Given the description of an element on the screen output the (x, y) to click on. 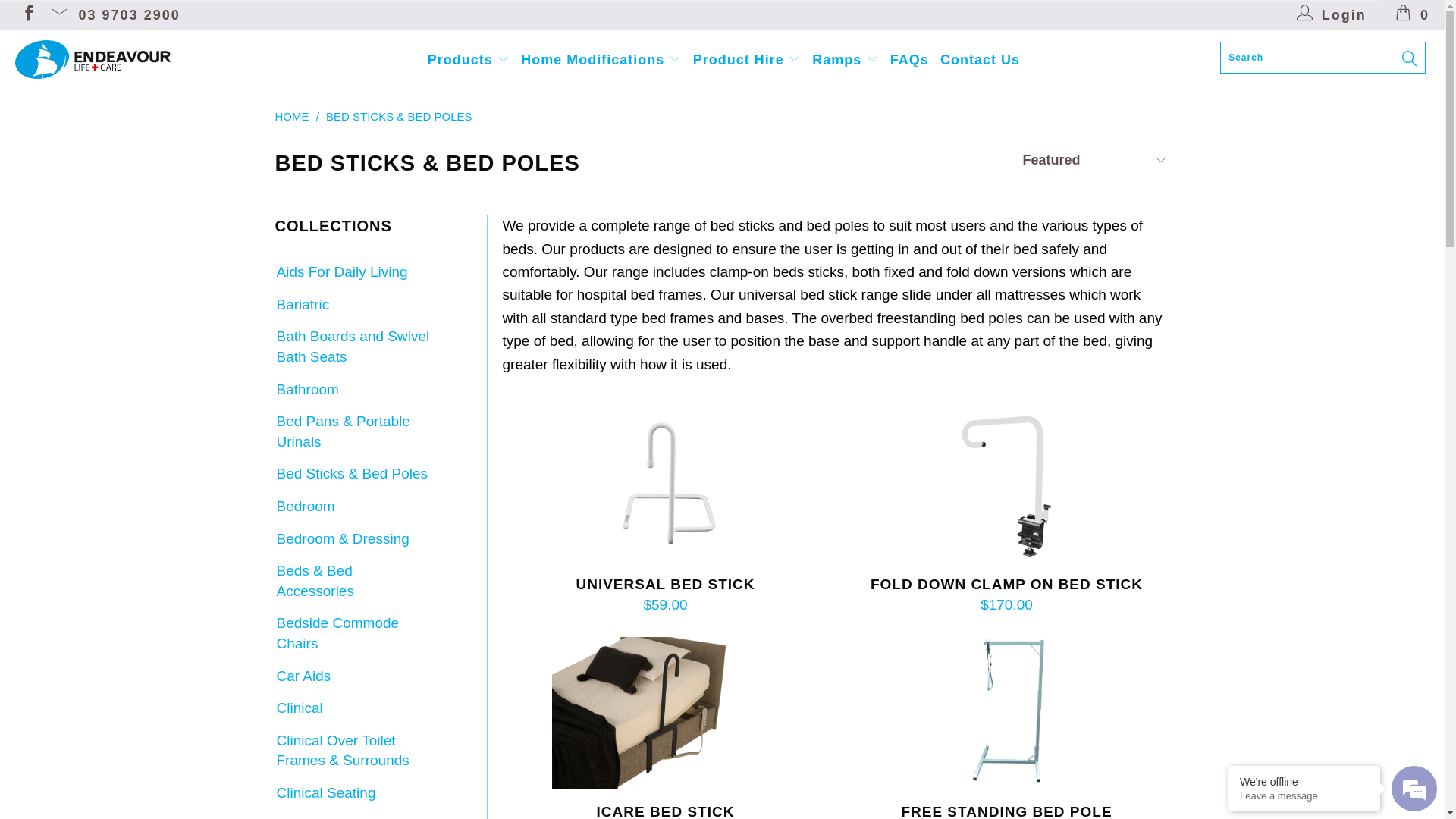
HOME Element type: text (291, 115)
03 9703 2900 Element type: text (129, 15)
Products Element type: text (468, 59)
Endeavour Life Care Element type: hover (123, 59)
Bed Pans & Portable Urinals Element type: text (352, 431)
Aids For Daily Living Element type: text (340, 272)
Contact Us Element type: text (979, 60)
0 Element type: text (1412, 15)
FAQs Element type: text (909, 60)
Bedroom & Dressing Element type: text (341, 539)
Bathroom Element type: text (306, 389)
Email Endeavour Life Care Element type: hover (57, 14)
Bedside Commode Chairs Element type: text (352, 633)
Login Element type: text (1332, 15)
Beds & Bed Accessories Element type: text (352, 581)
Clinical Over Toilet Frames & Surrounds Element type: text (352, 751)
Bed Sticks & Bed Poles Element type: text (350, 474)
BED STICKS & BED POLES Element type: text (399, 115)
FOLD DOWN CLAMP ON BED STICK
$170.00 Element type: text (1006, 595)
Clinical Seating Element type: text (324, 793)
Clinical Element type: text (298, 708)
Bath Boards and Swivel Bath Seats Element type: text (352, 346)
Product Hire Element type: text (746, 59)
Home Modifications Element type: text (600, 59)
Ramps Element type: text (845, 59)
Endeavour Life Care on Facebook Element type: hover (27, 14)
UNIVERSAL BED STICK
$59.00 Element type: text (665, 595)
Car Aids Element type: text (302, 676)
Bariatric Element type: text (301, 304)
Bedroom Element type: text (304, 506)
